Given the description of an element on the screen output the (x, y) to click on. 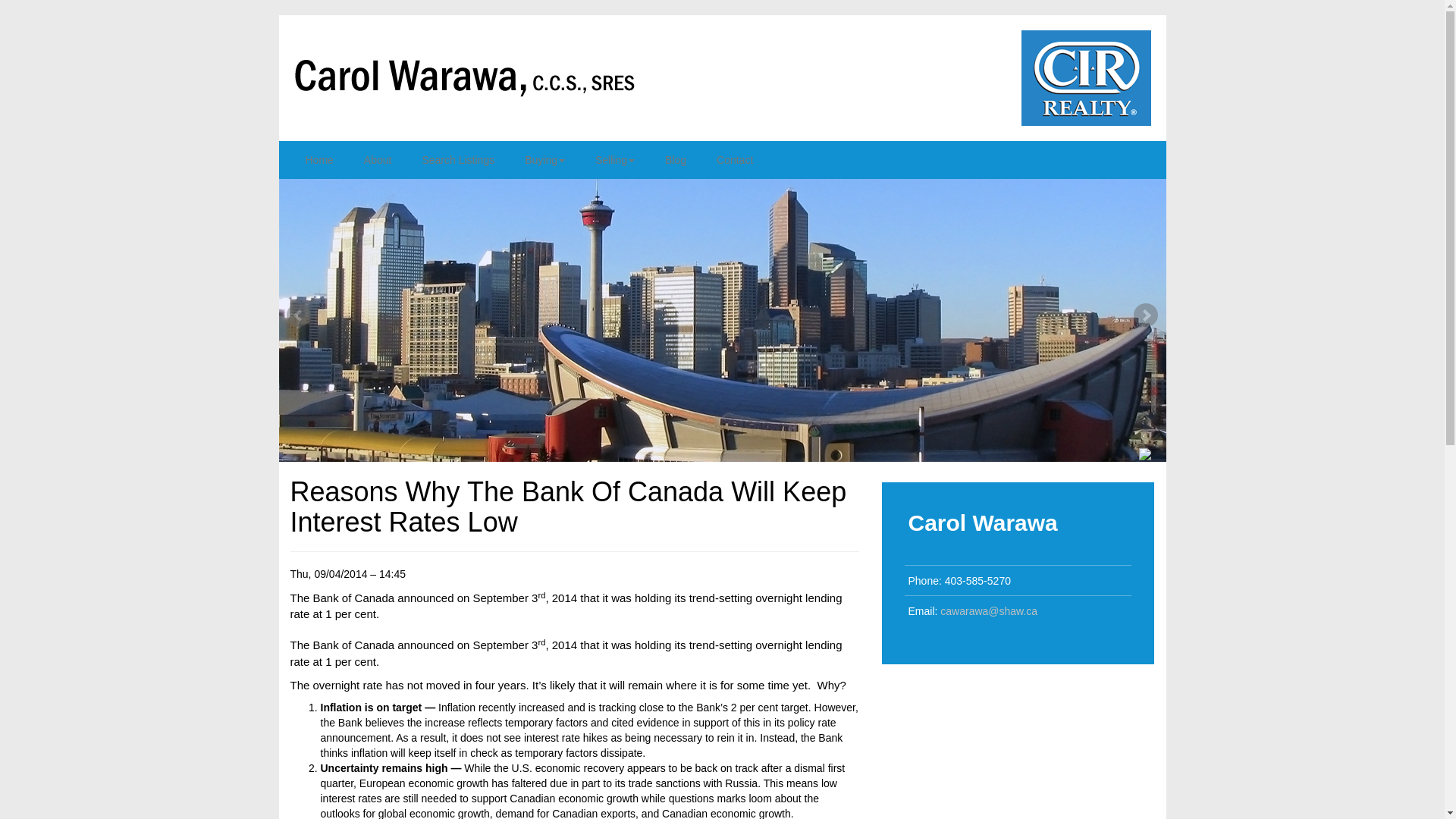
Home (318, 159)
Selling (614, 159)
Blog (675, 159)
Contact (734, 159)
Search Listings (457, 159)
About (378, 159)
Buying (544, 159)
